Given the description of an element on the screen output the (x, y) to click on. 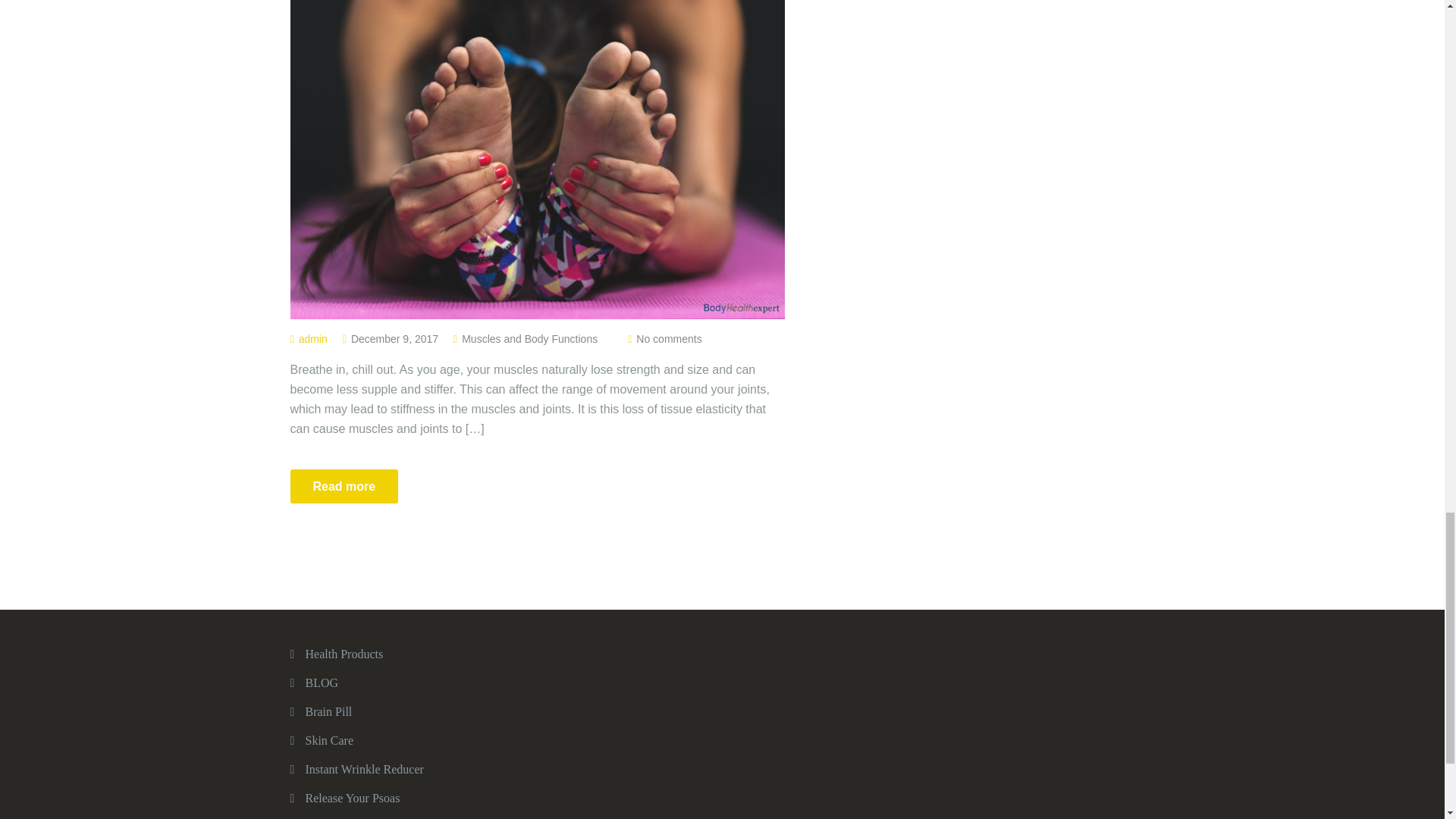
Muscles and Body Functions (528, 338)
Read more (343, 486)
Read more (343, 486)
